Given the description of an element on the screen output the (x, y) to click on. 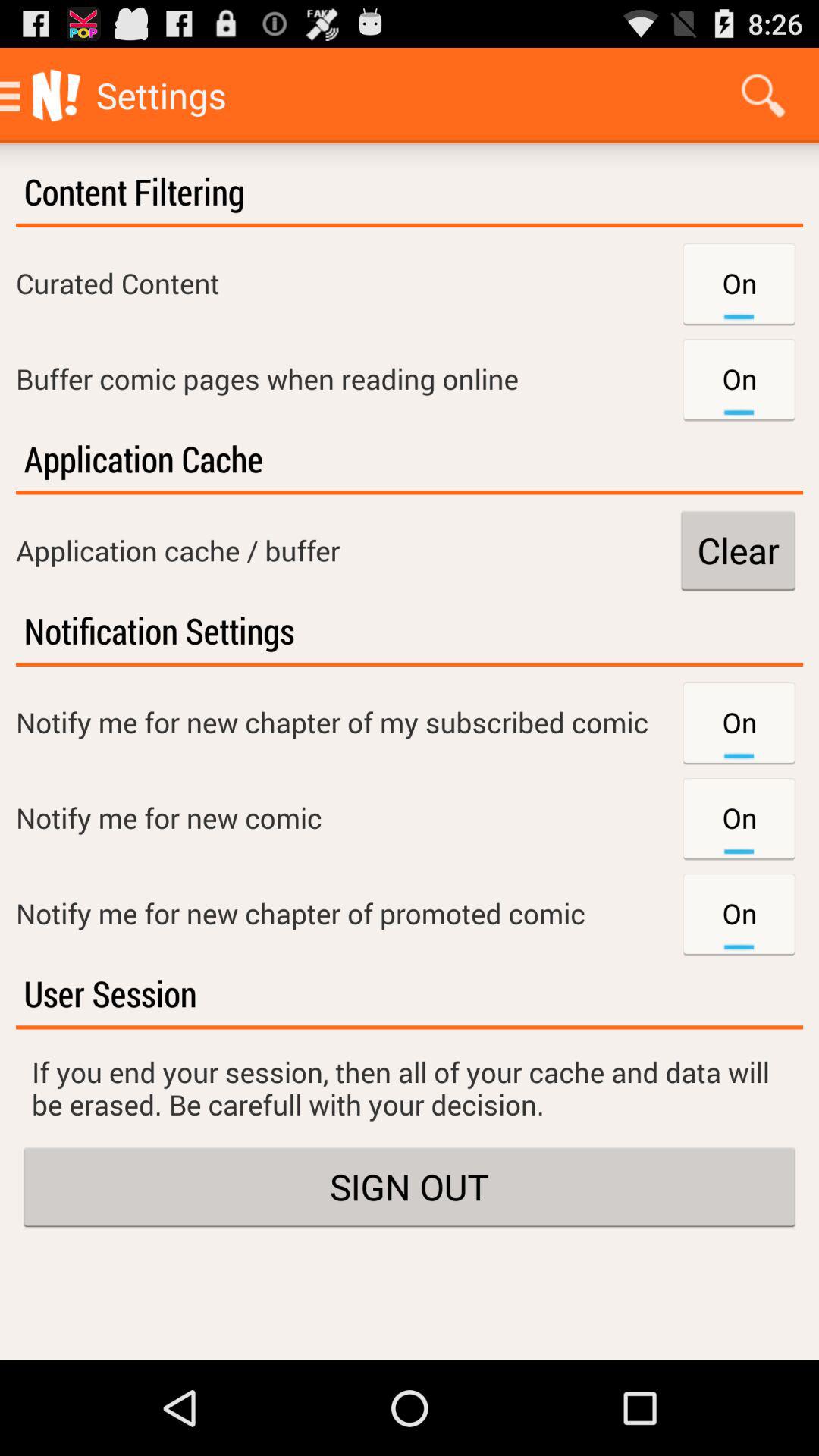
select the clear (738, 550)
